Given the description of an element on the screen output the (x, y) to click on. 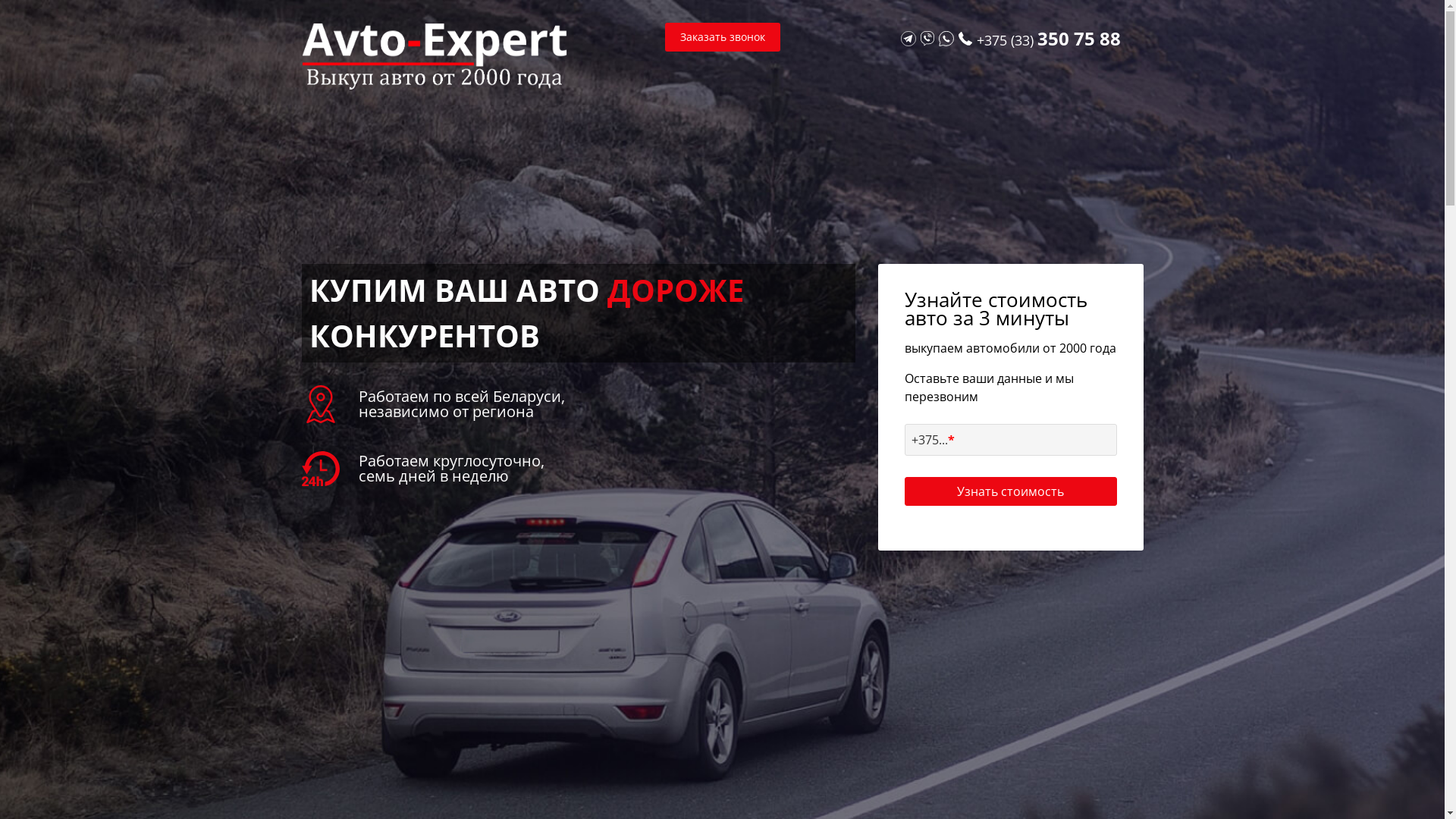
+375 (33) 350 75 88 Element type: text (1048, 40)
